Given the description of an element on the screen output the (x, y) to click on. 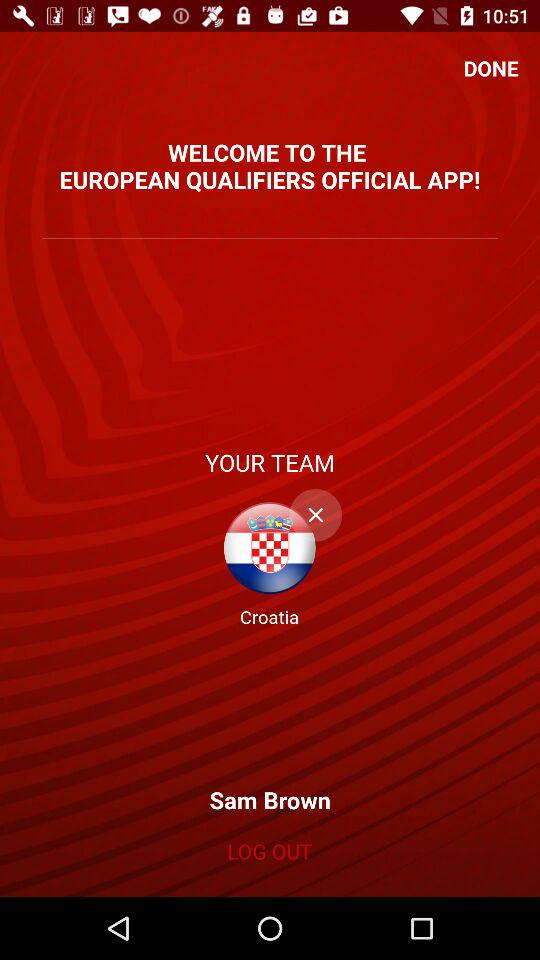
swipe to log out item (269, 851)
